Given the description of an element on the screen output the (x, y) to click on. 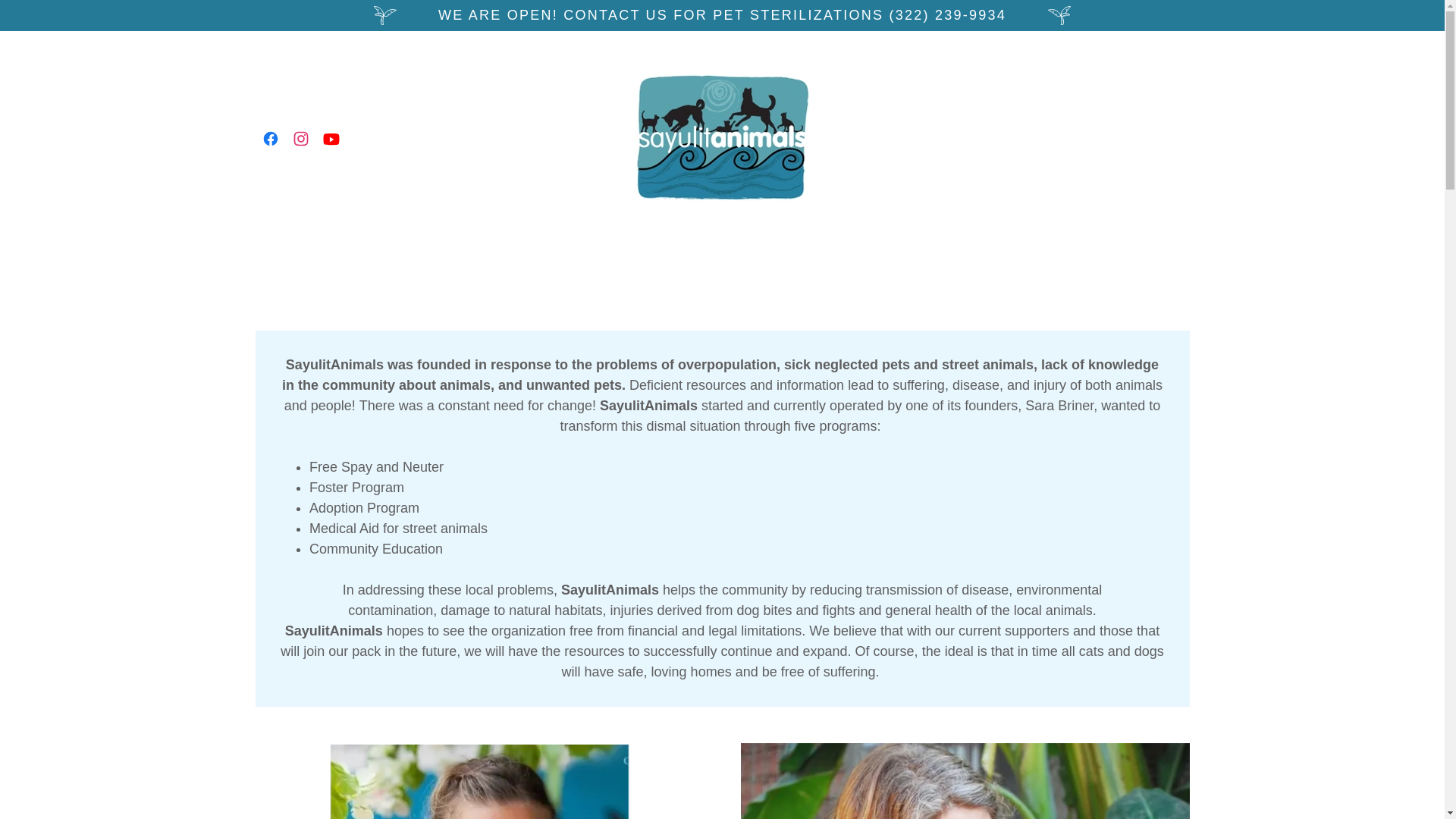
SayulitAnimals (721, 136)
